Given the description of an element on the screen output the (x, y) to click on. 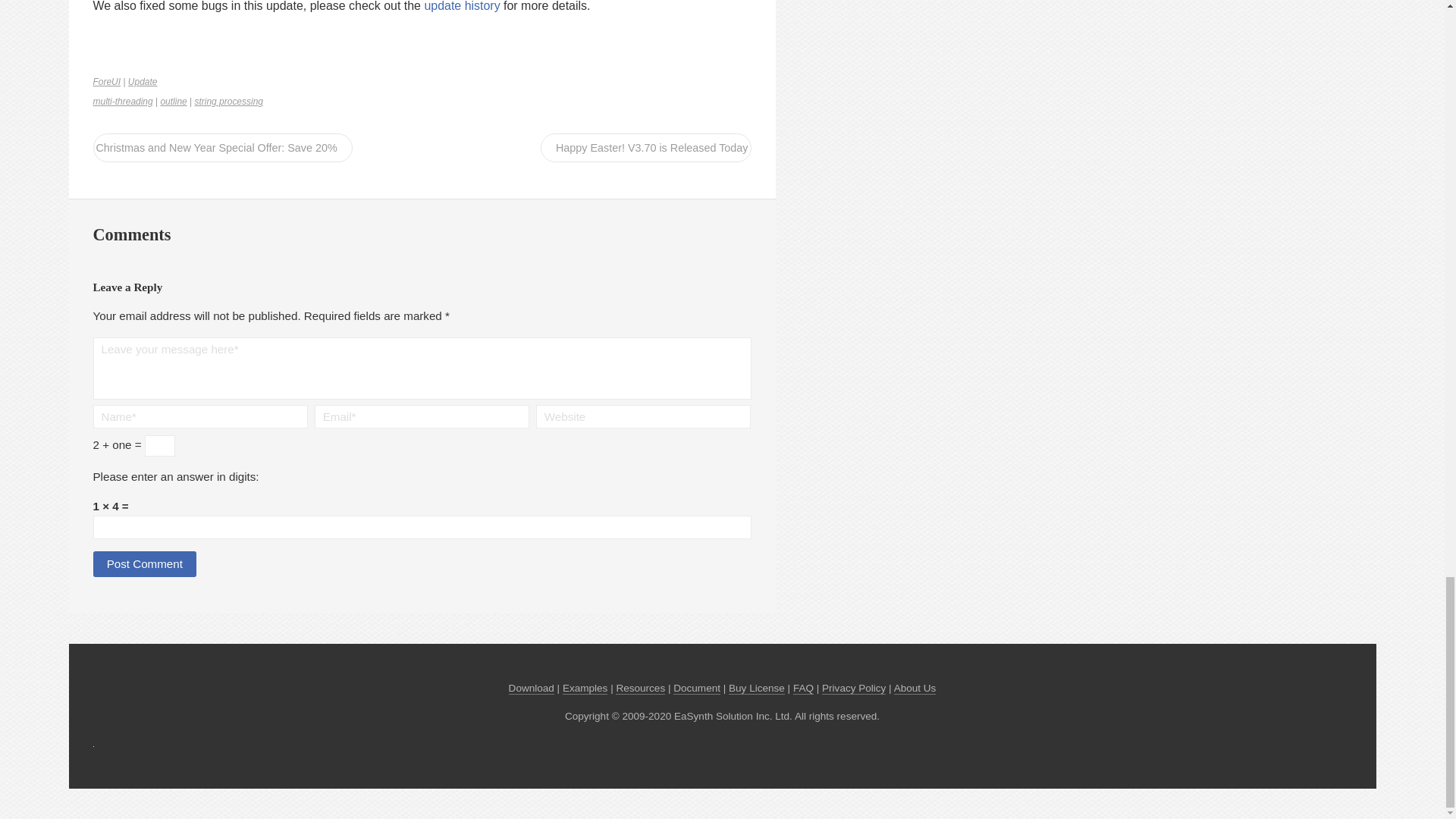
ForeUI Store (640, 688)
string processing (227, 101)
Update (142, 81)
Buy ForeUI License (756, 688)
update history (461, 6)
multi-threading (122, 101)
Download ForeUI (531, 688)
ForeUI (106, 81)
outline (173, 101)
Happy Easter! V3.70 is Released Today (645, 147)
